Given the description of an element on the screen output the (x, y) to click on. 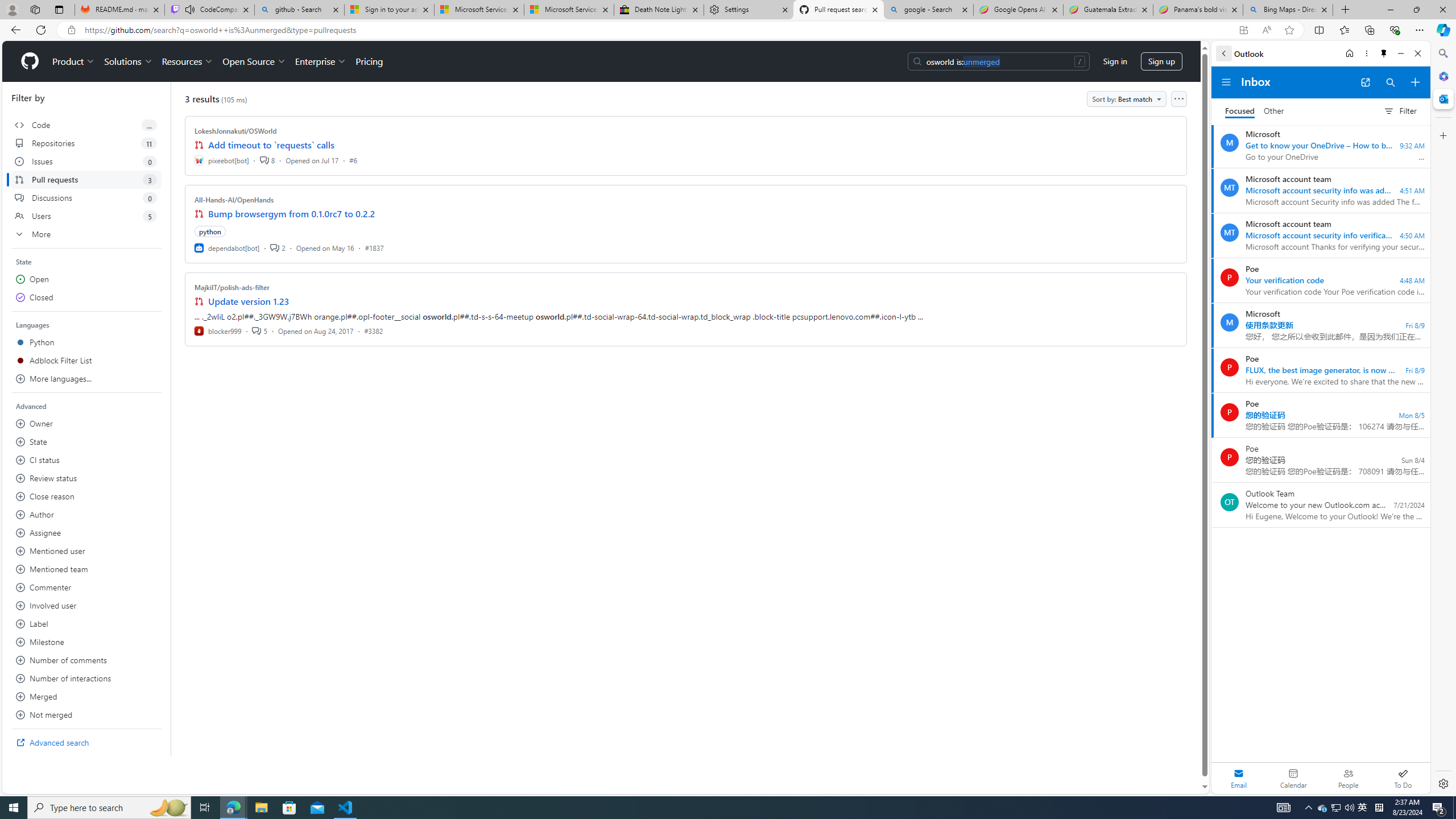
Enterprise (319, 60)
Update version 1.23 (248, 300)
Open in new tab (1365, 82)
#6 (352, 159)
MajkiIT/polish-ads-filter (232, 286)
Filter (1399, 110)
